Given the description of an element on the screen output the (x, y) to click on. 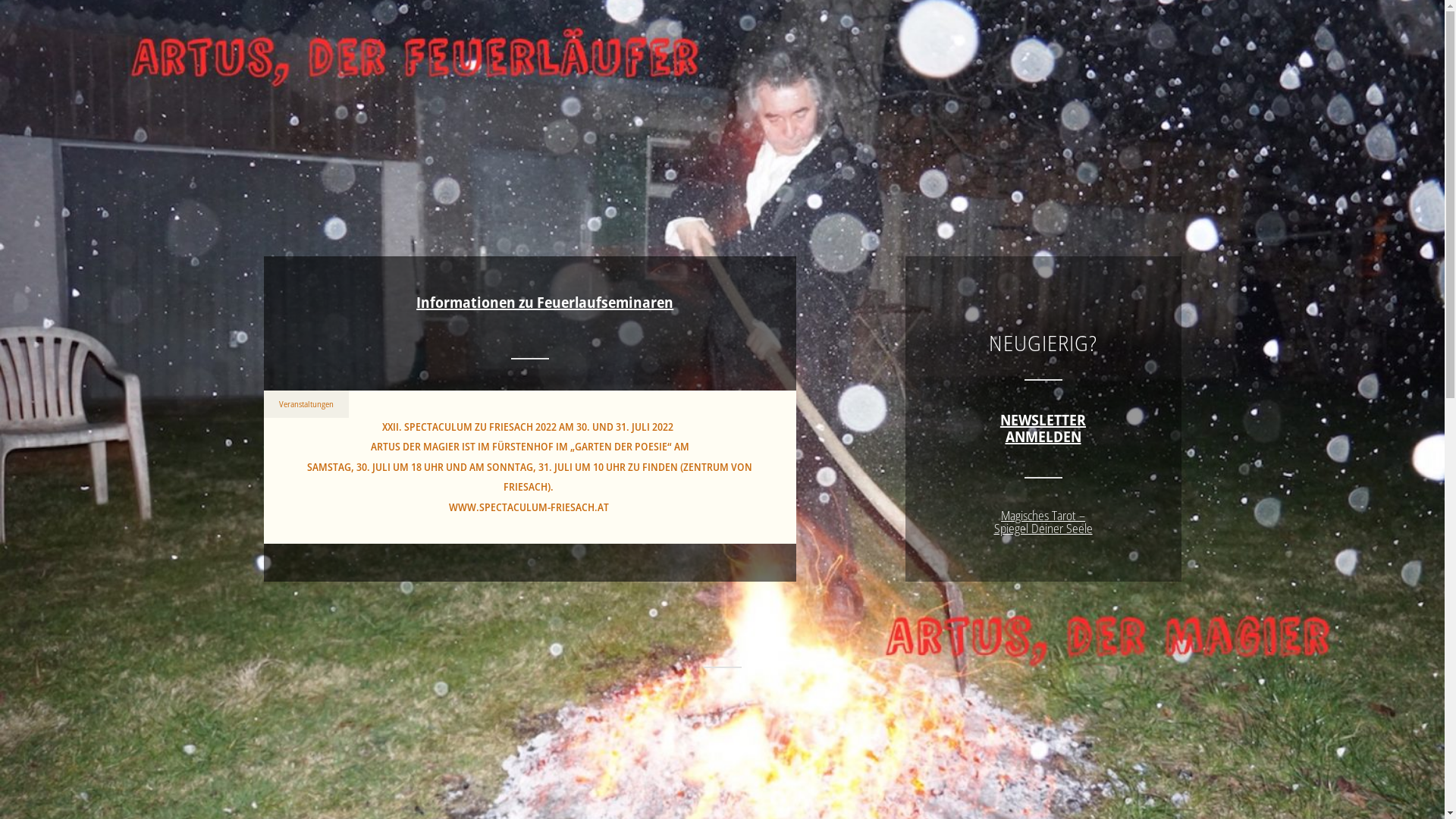
NEWSLETTER
ANMELDEN Element type: text (1042, 427)
Informationen zu Feuerlaufseminaren Element type: text (544, 301)
